Given the description of an element on the screen output the (x, y) to click on. 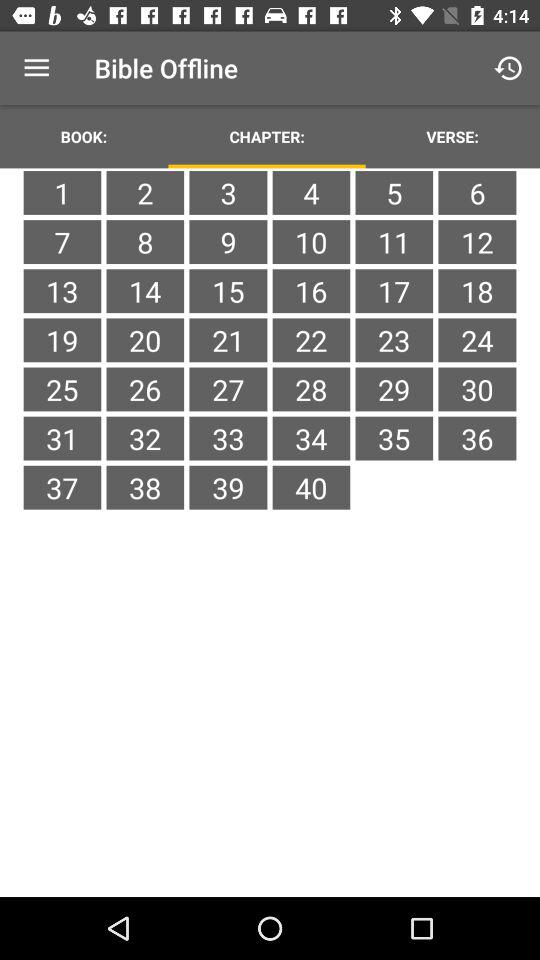
jump until the 33 item (228, 438)
